Given the description of an element on the screen output the (x, y) to click on. 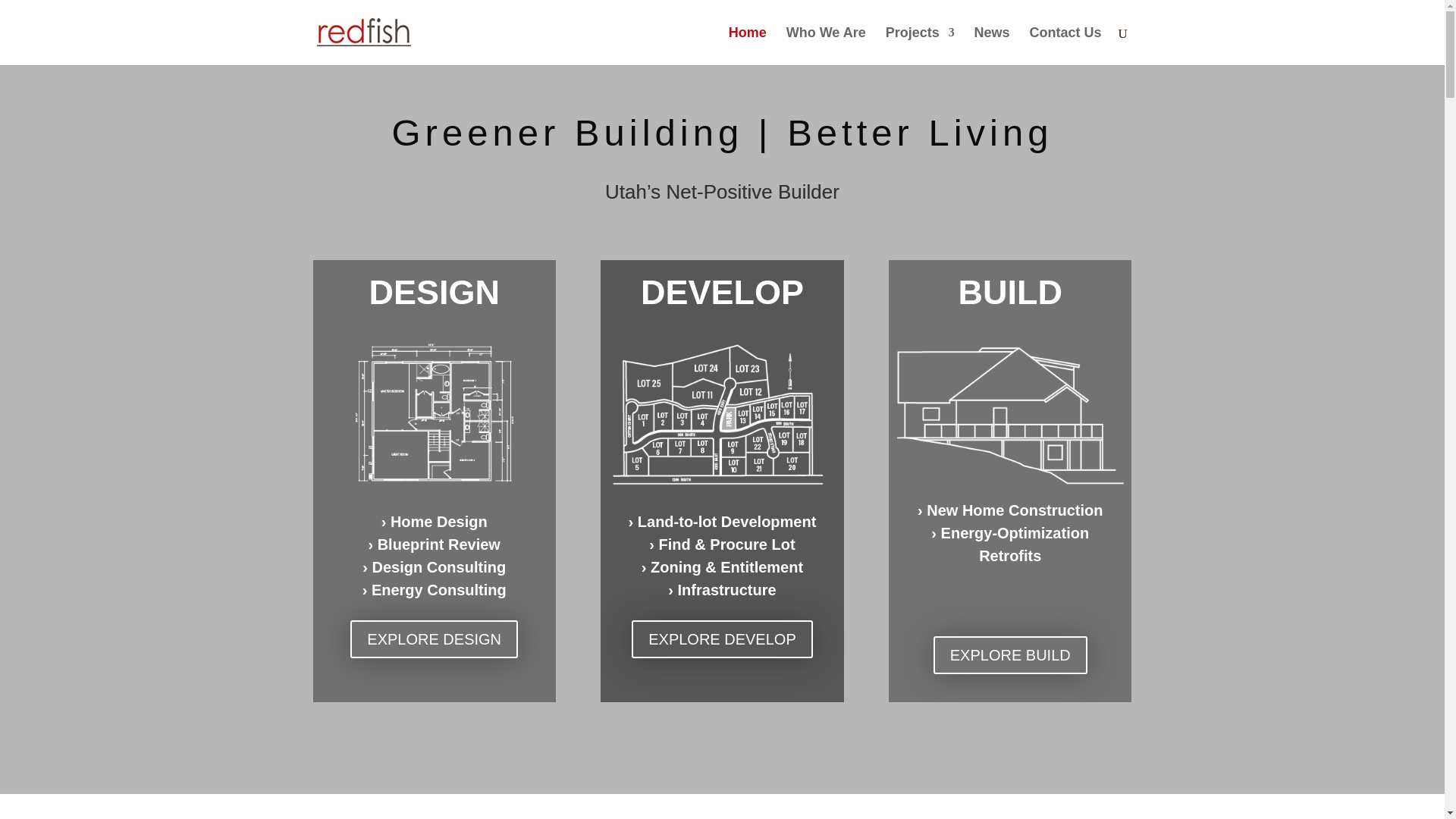
Who We Are (826, 46)
News (992, 46)
EXPLORE DESIGN (434, 638)
Home (748, 46)
EXPLORE BUILD (1010, 654)
Projects (920, 46)
EXPLORE DEVELOP (721, 638)
Contact Us (1064, 46)
